Given the description of an element on the screen output the (x, y) to click on. 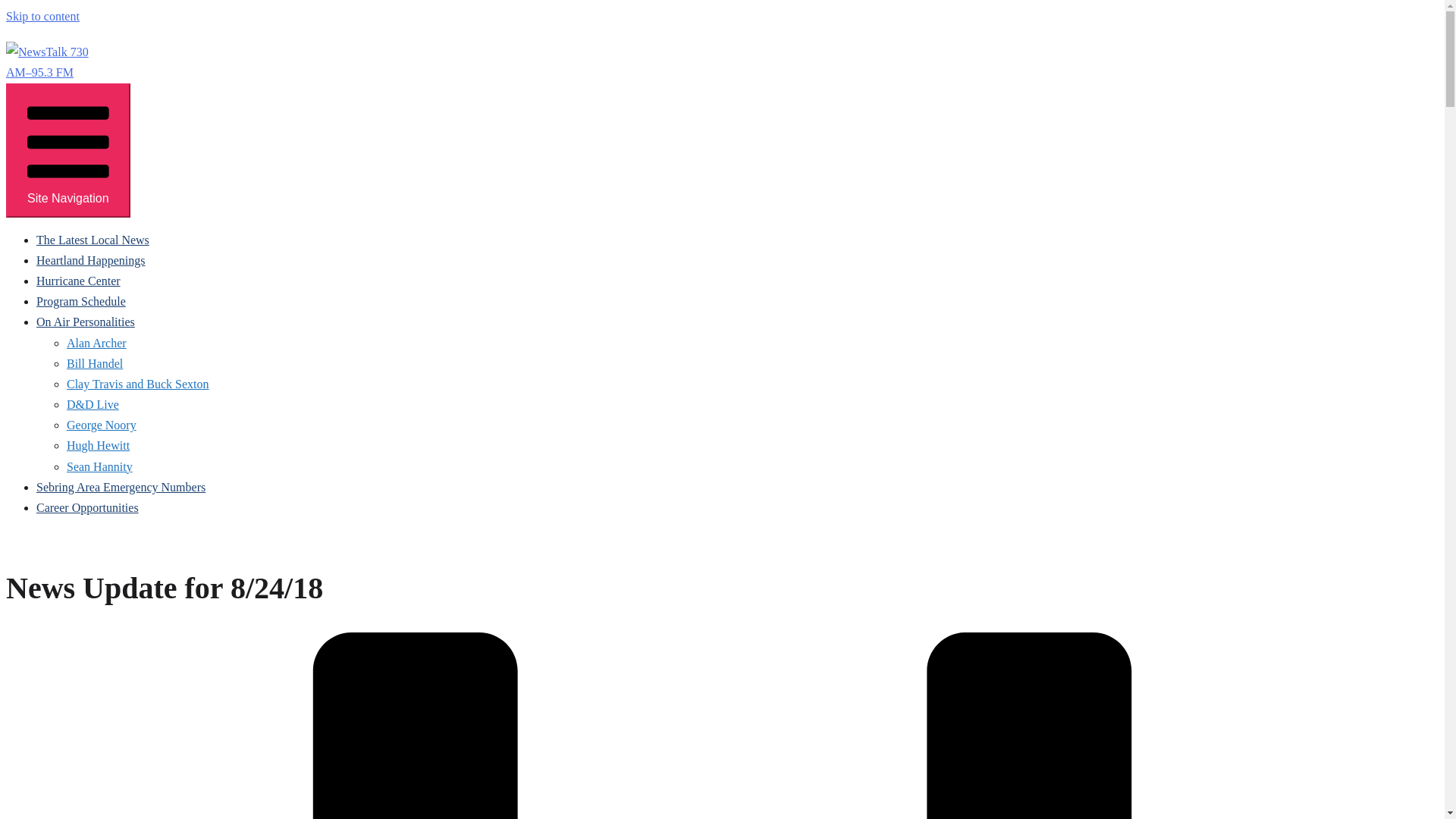
On Air Personalities (85, 321)
Sebring Area Emergency Numbers (120, 486)
Alan Archer (96, 342)
Career Opportunities (87, 507)
Clay Travis and Buck Sexton (137, 383)
George Noory (101, 424)
Program Schedule (80, 300)
Hugh Hewitt (97, 445)
Skip to content (42, 15)
Site Navigation (68, 150)
Sean Hannity (99, 466)
Heartland Happenings (90, 259)
Hurricane Center (78, 280)
The Latest Local News (92, 239)
Bill Handel (94, 363)
